Given the description of an element on the screen output the (x, y) to click on. 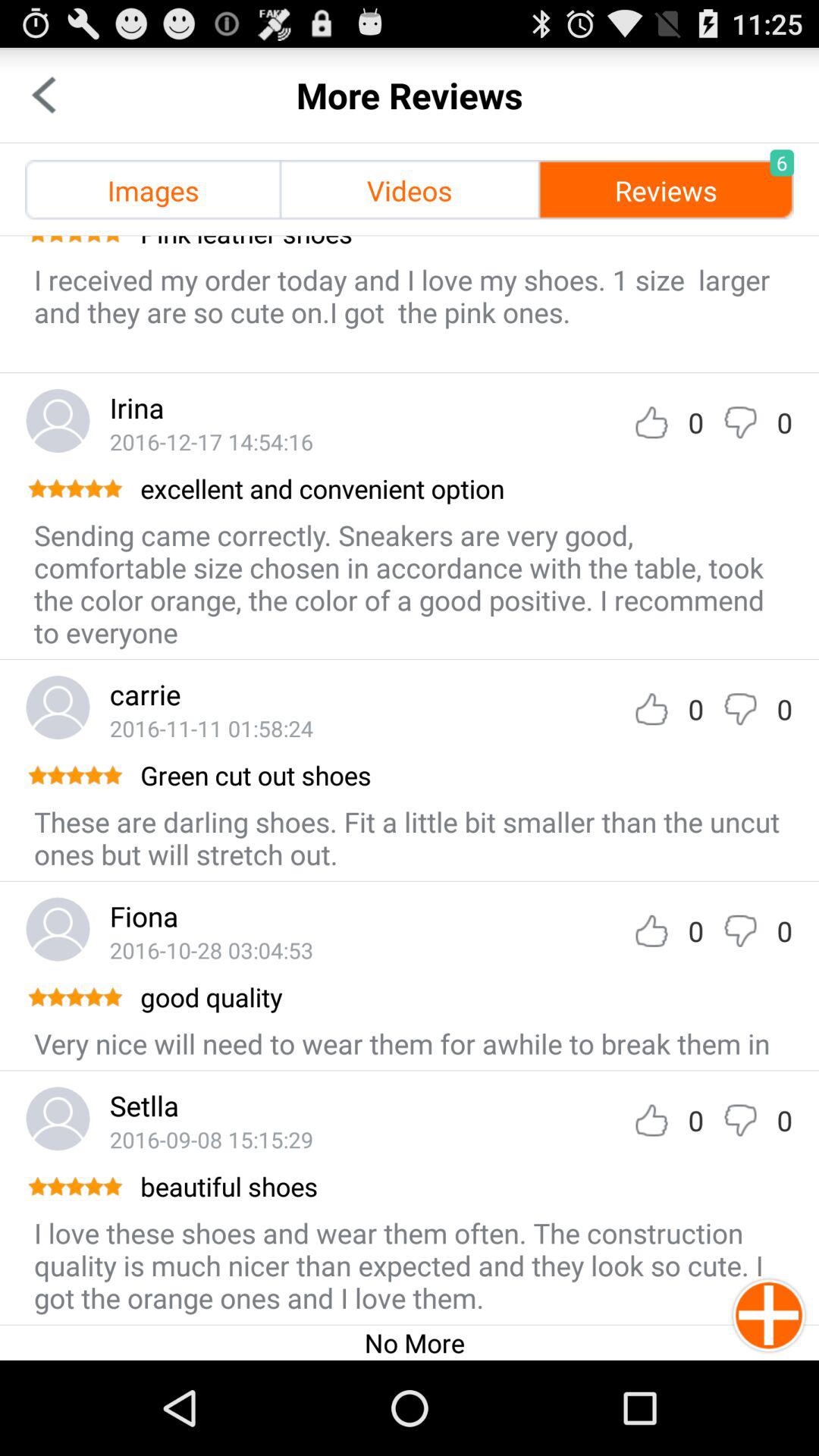
jump until 2016 09 08 (211, 1139)
